Given the description of an element on the screen output the (x, y) to click on. 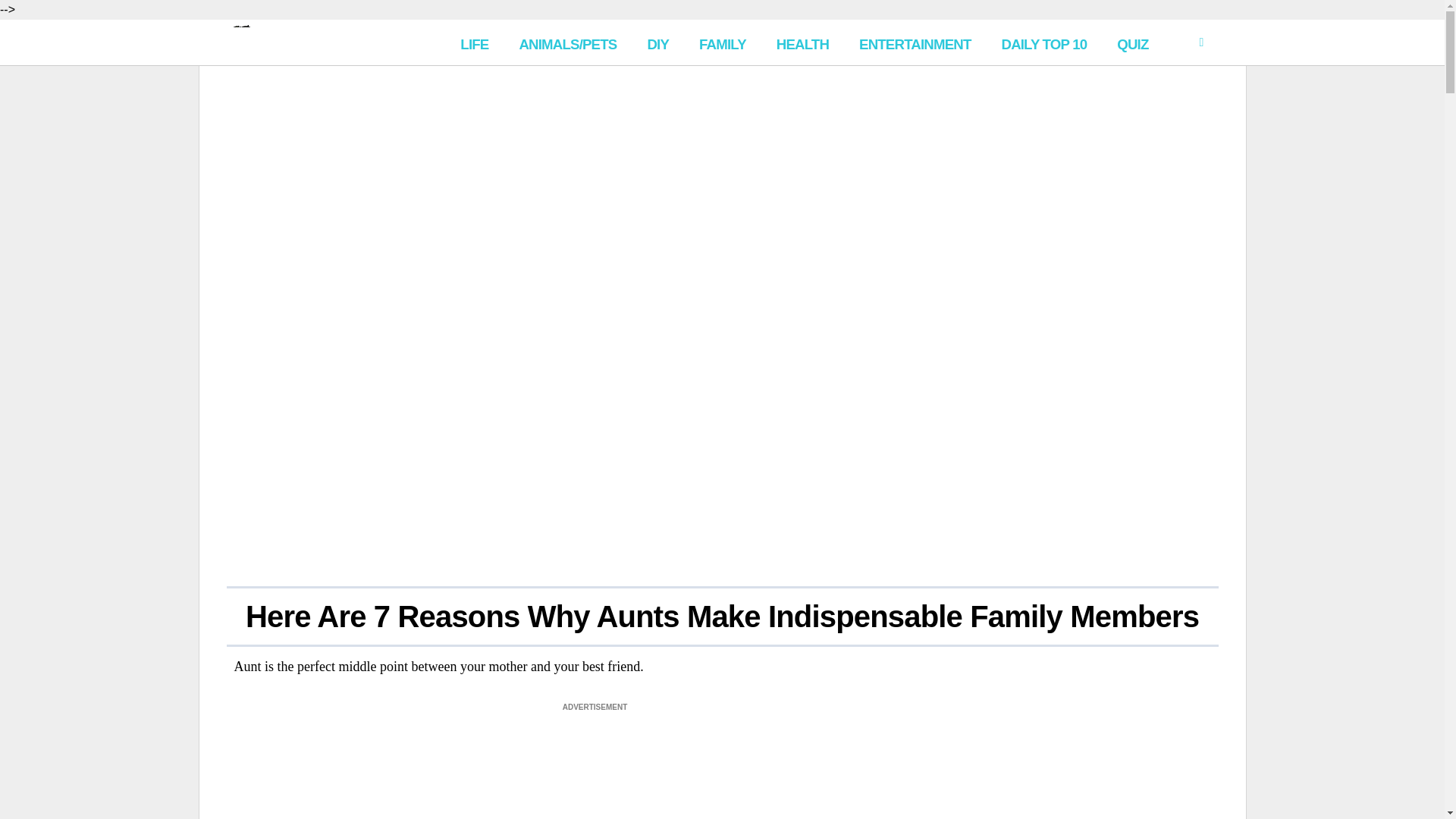
ENTERTAINMENT (914, 42)
LIFE (474, 42)
DAILY TOP 10 (1043, 42)
FAMILY (722, 42)
QUIZ (1132, 42)
HEALTH (801, 42)
